Given the description of an element on the screen output the (x, y) to click on. 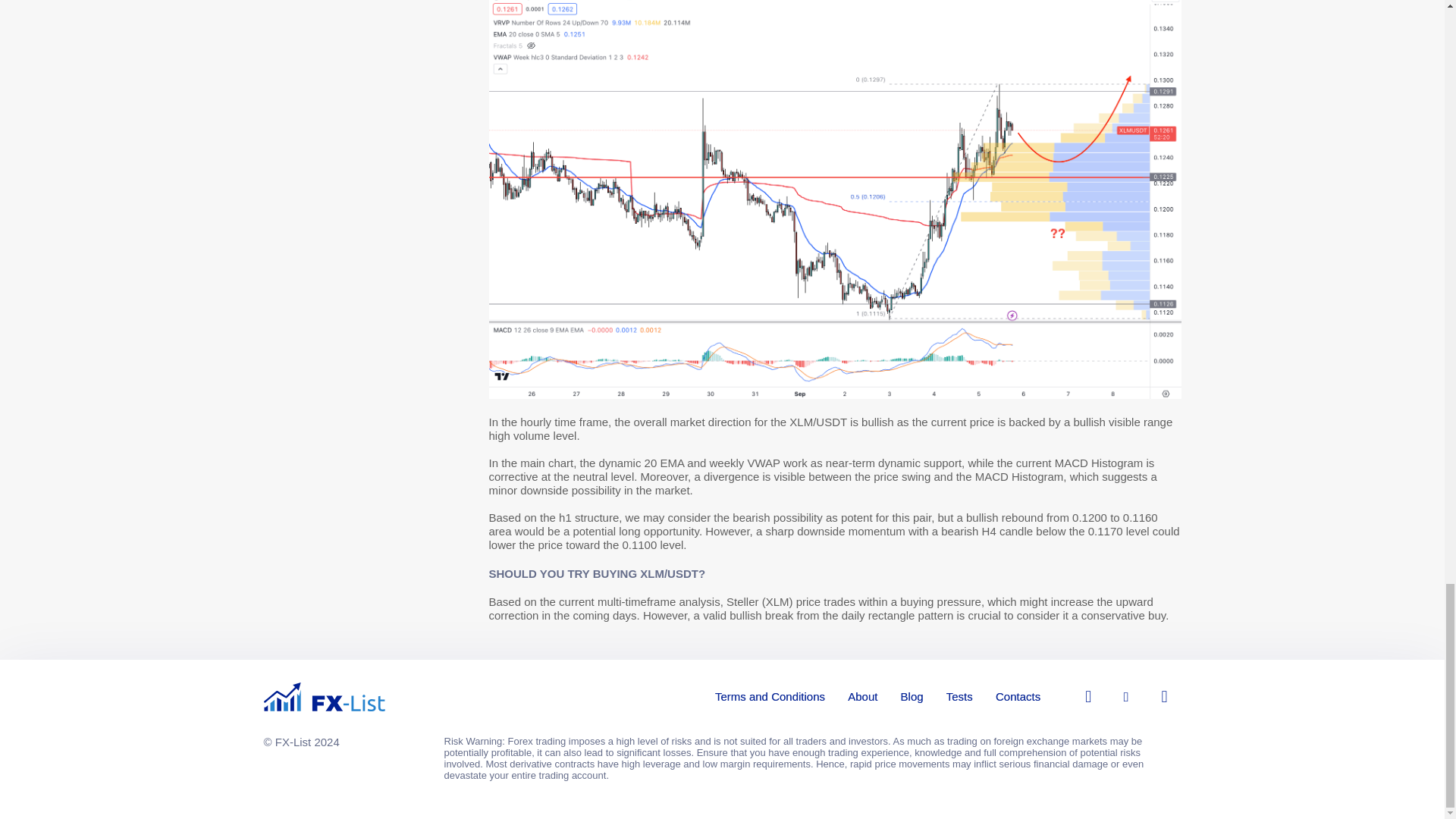
Blog (912, 696)
Tests (959, 696)
Terms and Conditions (769, 696)
About (862, 696)
Contacts (1018, 696)
